Given the description of an element on the screen output the (x, y) to click on. 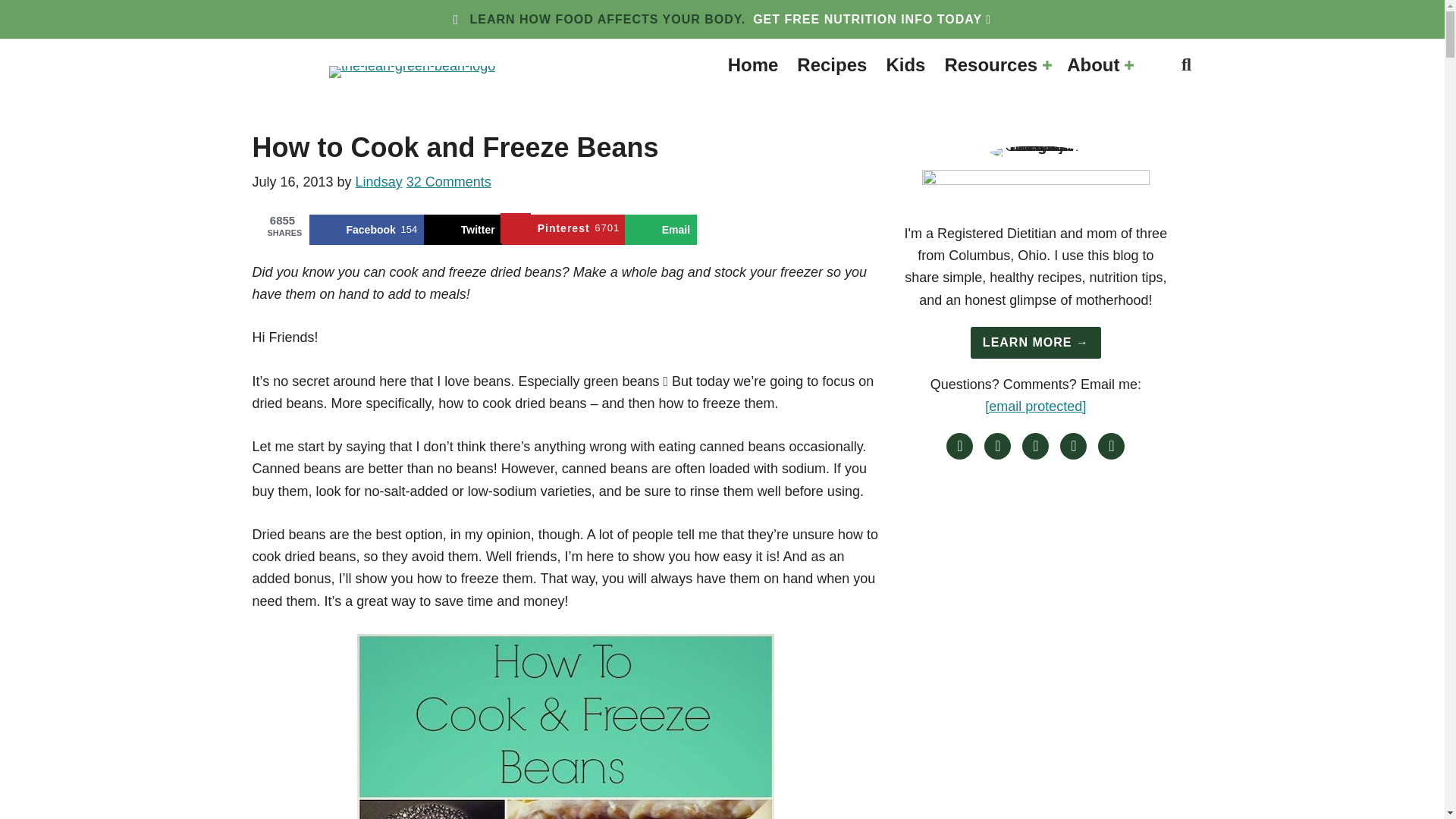
Kids (905, 64)
Twitter (462, 229)
How to Cook and Freeze Beans 1 (565, 726)
Resources (995, 64)
Lindsay (379, 181)
Save to Pinterest (563, 229)
32 Comments (449, 181)
Lindsay-Livingston-Lean-Green-Bean-Healthy-Living-sqopt (1035, 152)
Share on X (462, 229)
